Given the description of an element on the screen output the (x, y) to click on. 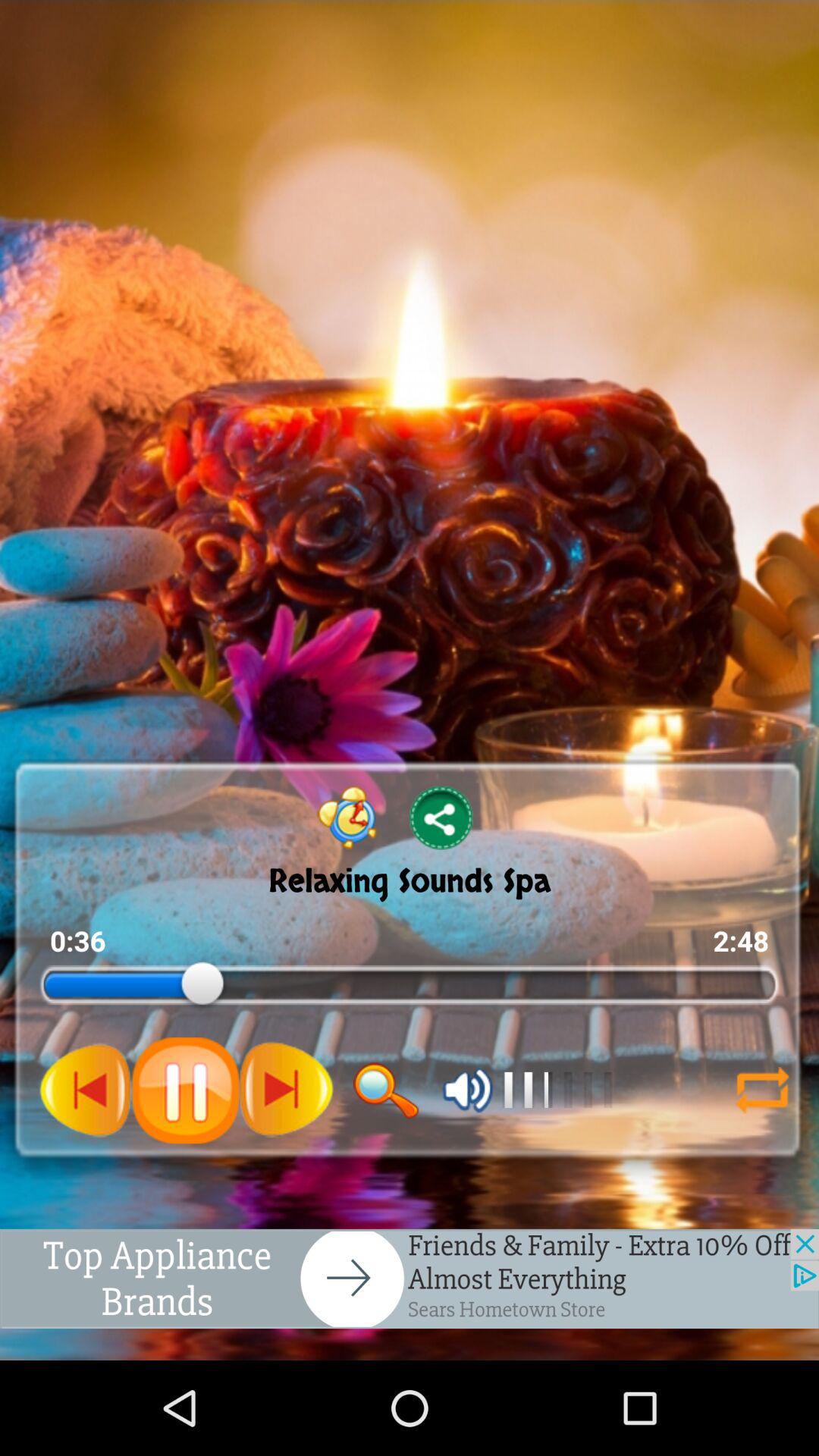
switch pause/play option (185, 1090)
